Given the description of an element on the screen output the (x, y) to click on. 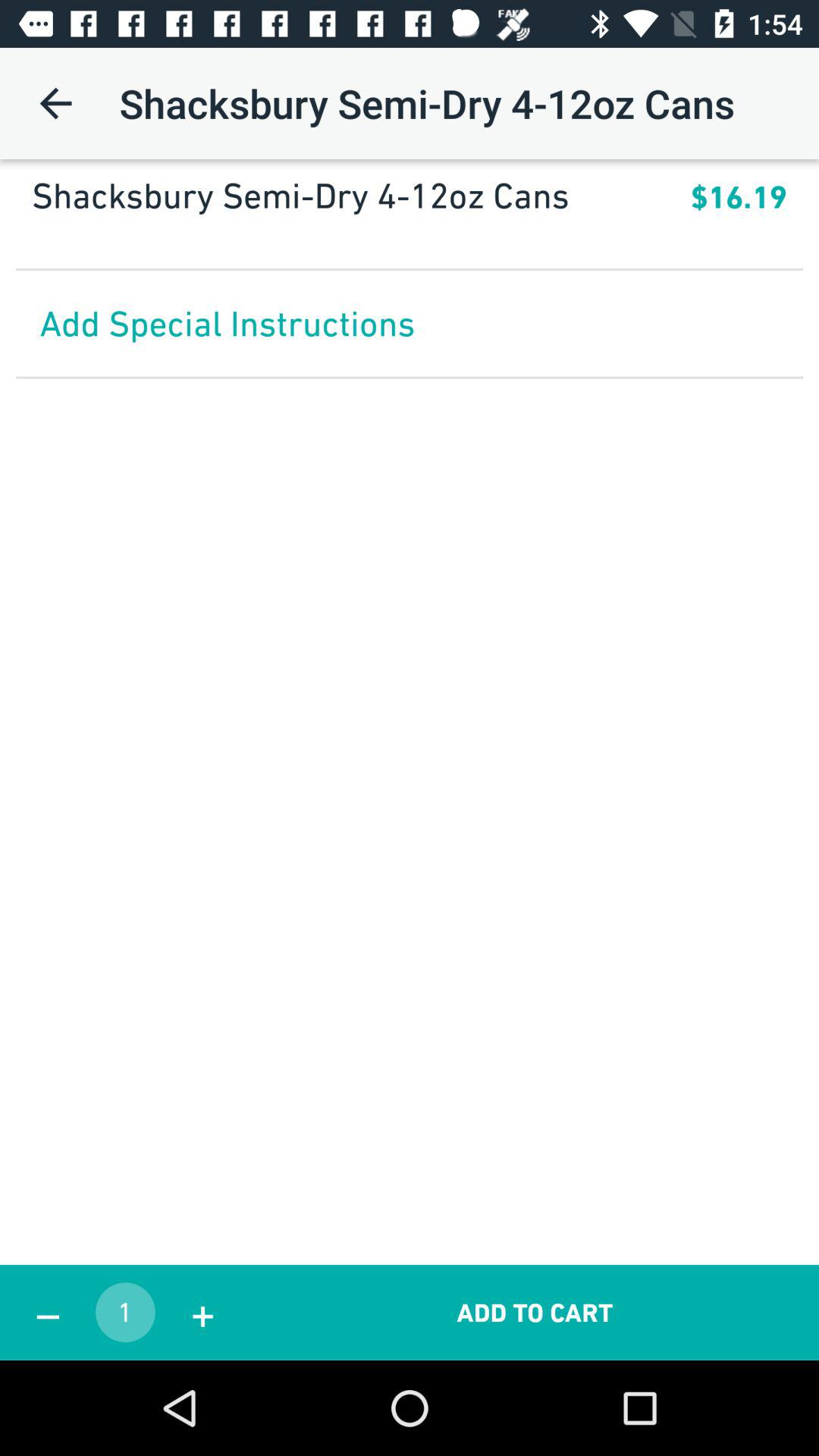
launch item next to add to cart button (202, 1312)
